Given the description of an element on the screen output the (x, y) to click on. 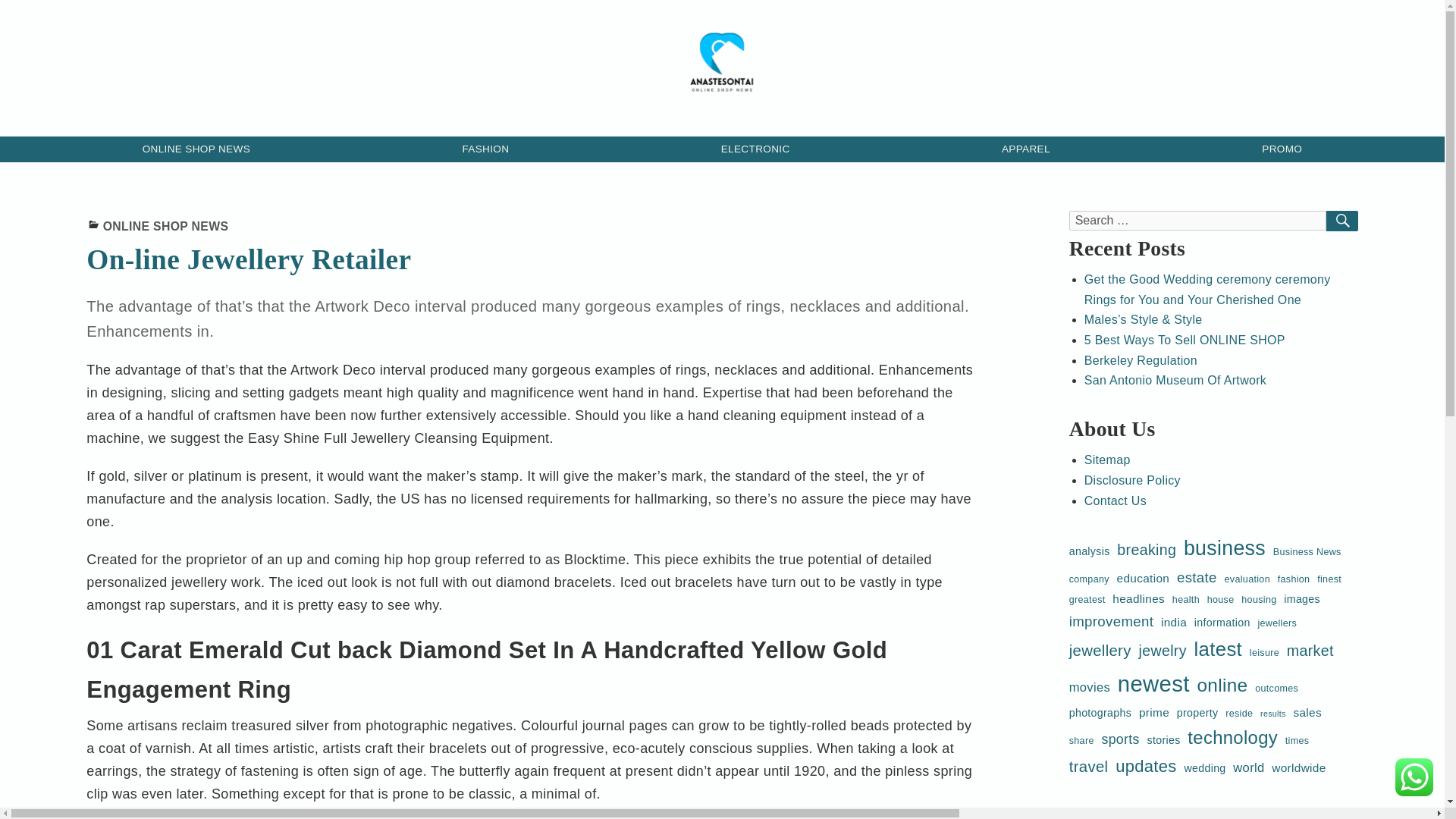
Contact Us (1115, 500)
SEARCH (1342, 220)
business (1224, 548)
greatest (1086, 600)
APPAREL (1026, 149)
Search for: (1197, 220)
Business News (1306, 552)
company (1088, 579)
FASHION (485, 149)
health (1185, 600)
headlines (1138, 598)
education (1143, 578)
estate (1196, 576)
San Antonio Museum Of Artwork (1175, 379)
